Given the description of an element on the screen output the (x, y) to click on. 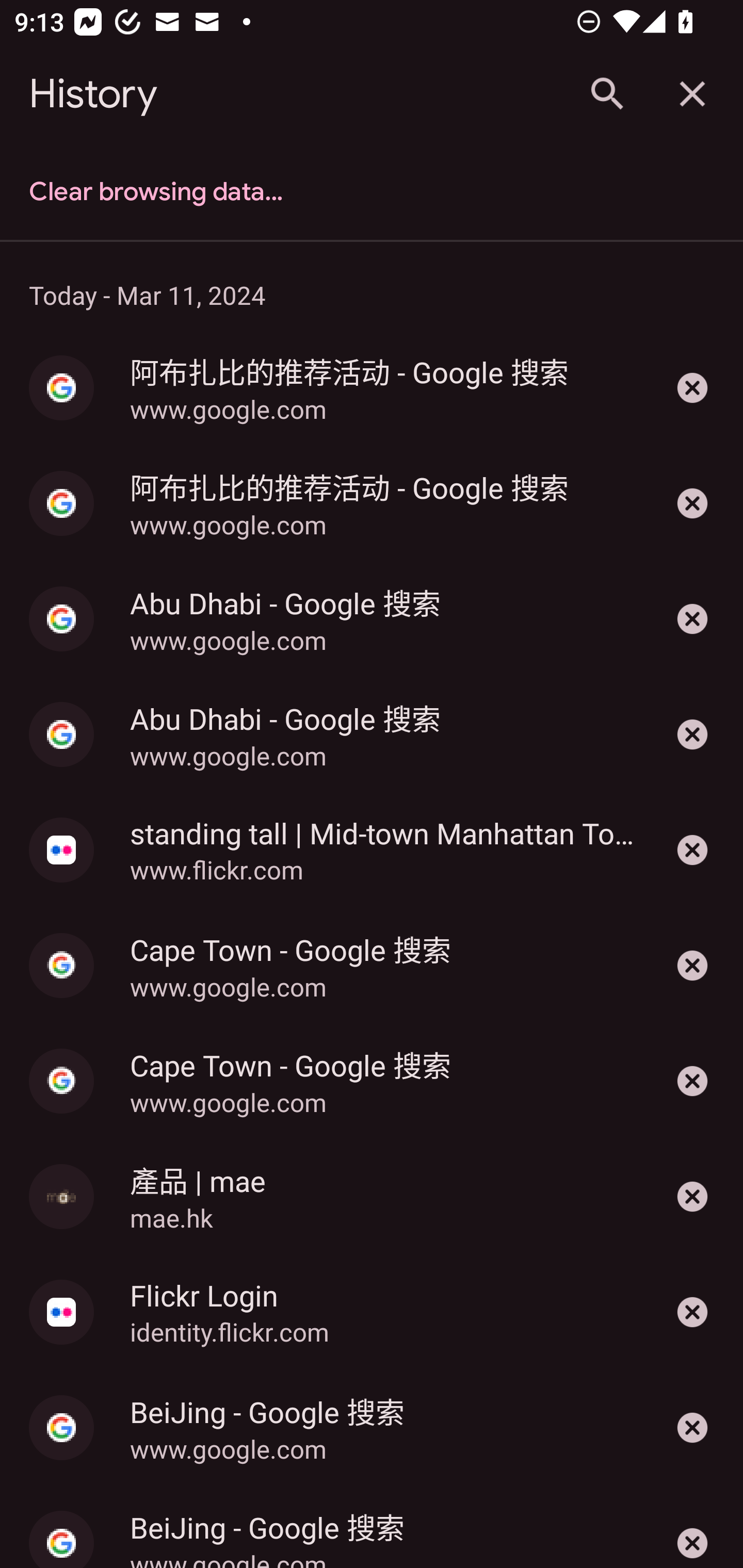
Search (605, 93)
Close (692, 93)
Clear browsing data… (371, 191)
阿布扎比的推荐活动 - Google 搜索 Remove (692, 387)
阿布扎比的推荐活动 - Google 搜索 Remove (692, 503)
Abu Dhabi - Google 搜索 Remove (692, 619)
Abu Dhabi - Google 搜索 Remove (692, 734)
Cape Town - Google 搜索 Remove (692, 965)
Cape Town - Google 搜索 Remove (692, 1080)
產品 | mae mae.hk 產品 | mae Remove (371, 1196)
產品 | mae Remove (692, 1196)
Flickr Login Remove (692, 1312)
BeiJing - Google 搜索 Remove (692, 1427)
BeiJing - Google 搜索 Remove (692, 1526)
